Given the description of an element on the screen output the (x, y) to click on. 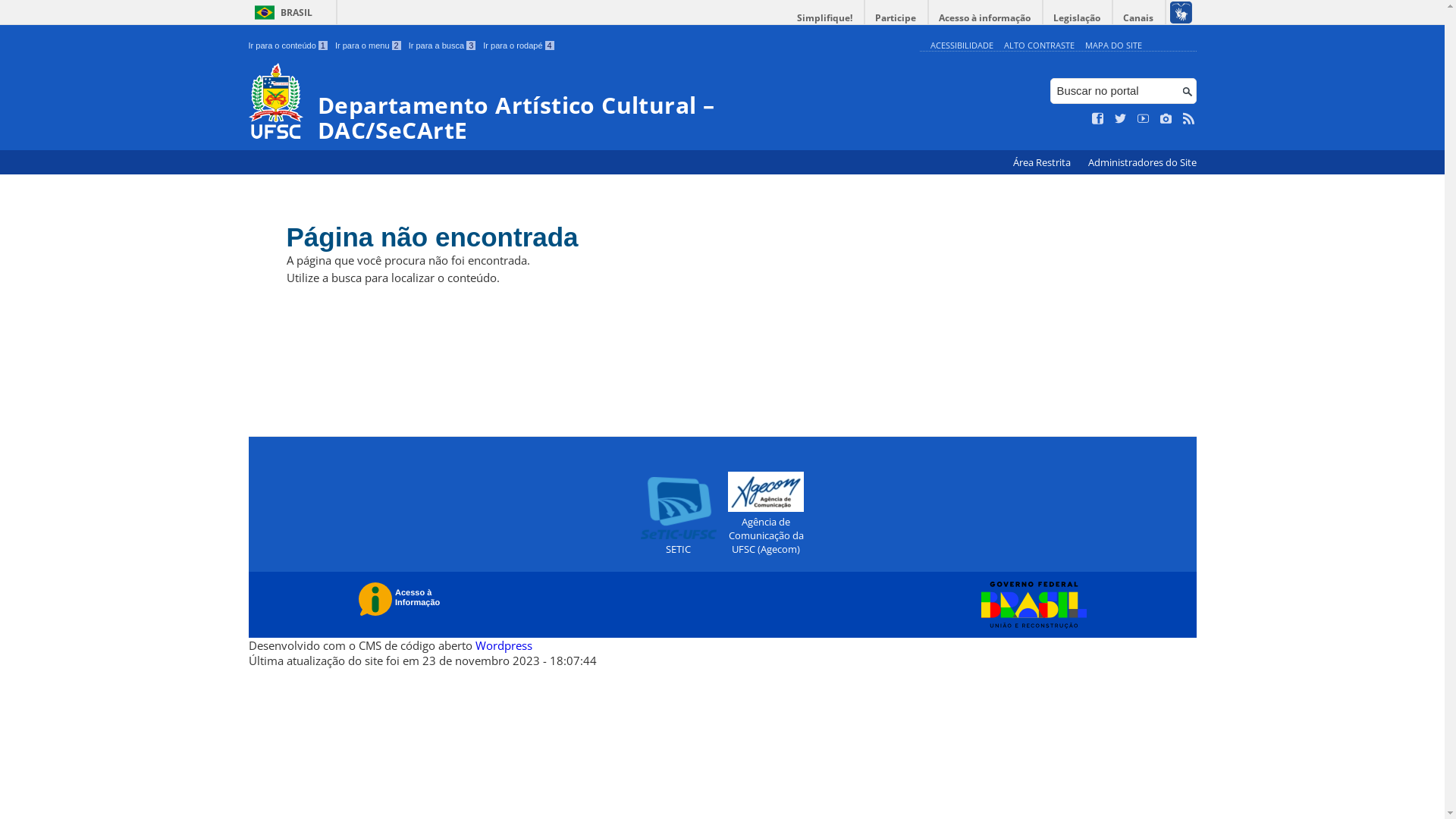
MAPA DO SITE Element type: text (1112, 44)
ACESSIBILIDADE Element type: text (960, 44)
Siga no Twitter Element type: hover (1120, 118)
Participe Element type: text (895, 18)
Governo Federal Element type: hover (1029, 603)
BRASIL Element type: text (280, 12)
Administradores do Site Element type: text (1141, 162)
Wordpress Element type: text (502, 644)
Ir para o menu 2 Element type: text (368, 45)
Simplifique! Element type: text (825, 18)
Canais Element type: text (1138, 18)
Veja no Instagram Element type: hover (1166, 118)
Curta no Facebook Element type: hover (1098, 118)
Ir para a busca 3 Element type: text (442, 45)
ALTO CONTRASTE Element type: text (1039, 44)
